Given the description of an element on the screen output the (x, y) to click on. 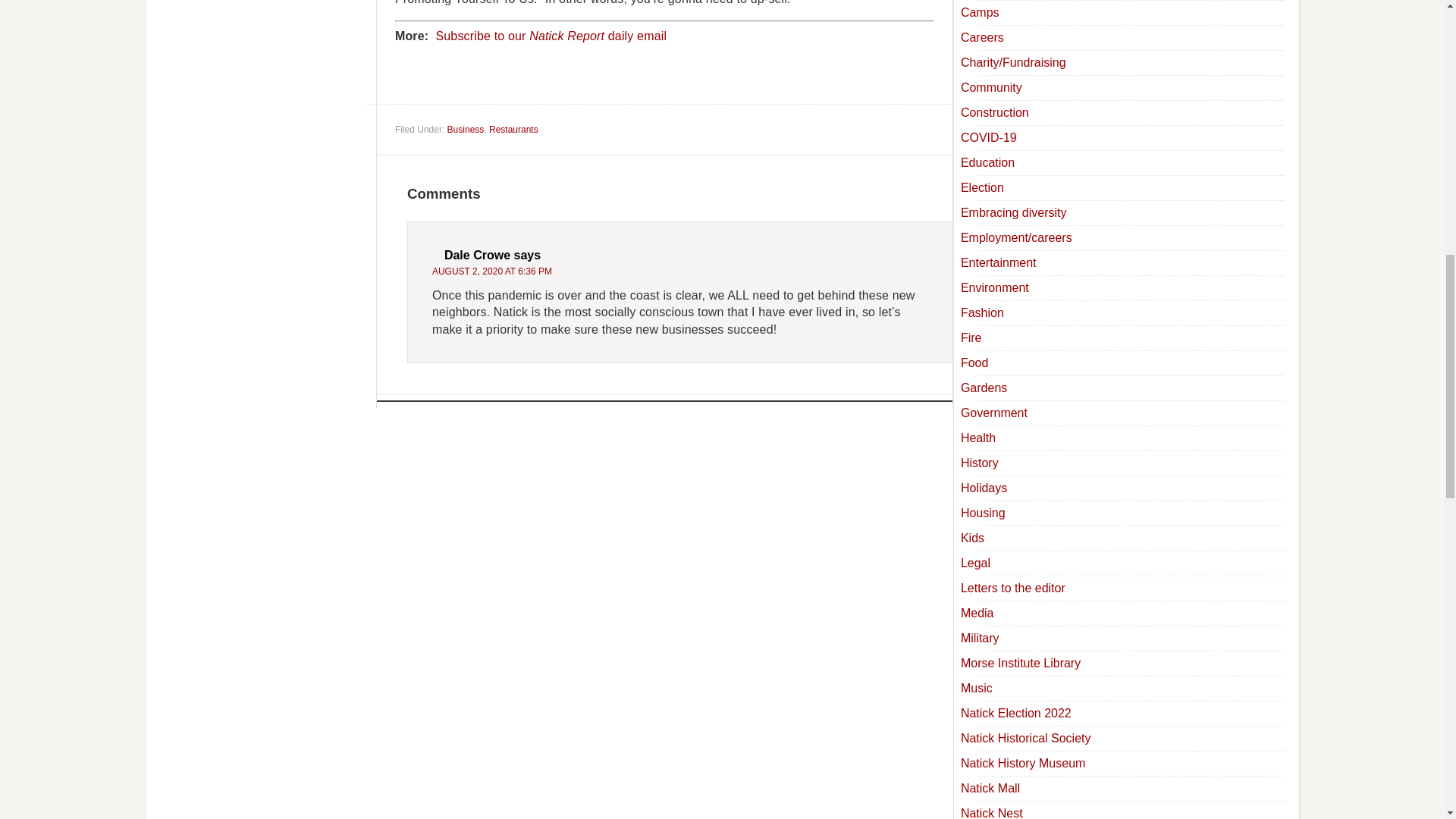
Business (465, 129)
Subscribe to our Natick Report daily email (550, 35)
Restaurants (513, 129)
AUGUST 2, 2020 AT 6:36 PM (491, 271)
